Given the description of an element on the screen output the (x, y) to click on. 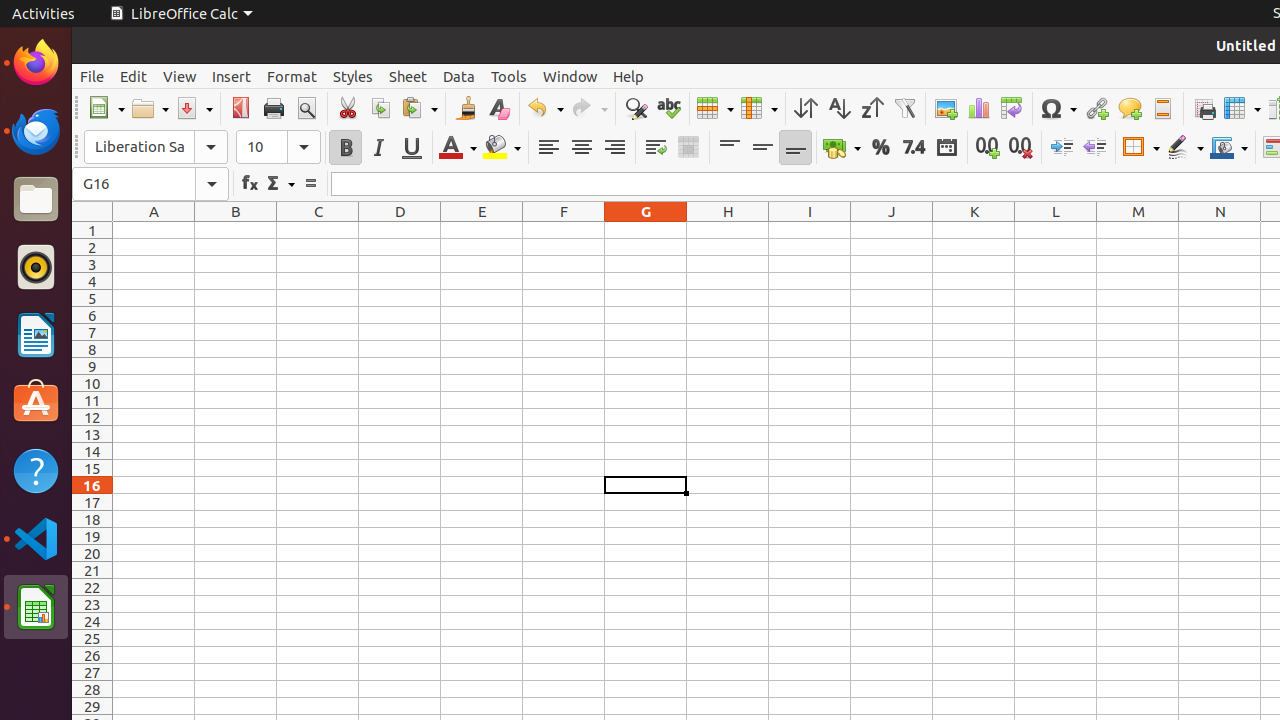
Headers and Footers Element type: push-button (1162, 108)
Spelling Element type: push-button (668, 108)
Cut Element type: push-button (347, 108)
PDF Element type: push-button (240, 108)
Open Element type: push-button (150, 108)
